Given the description of an element on the screen output the (x, y) to click on. 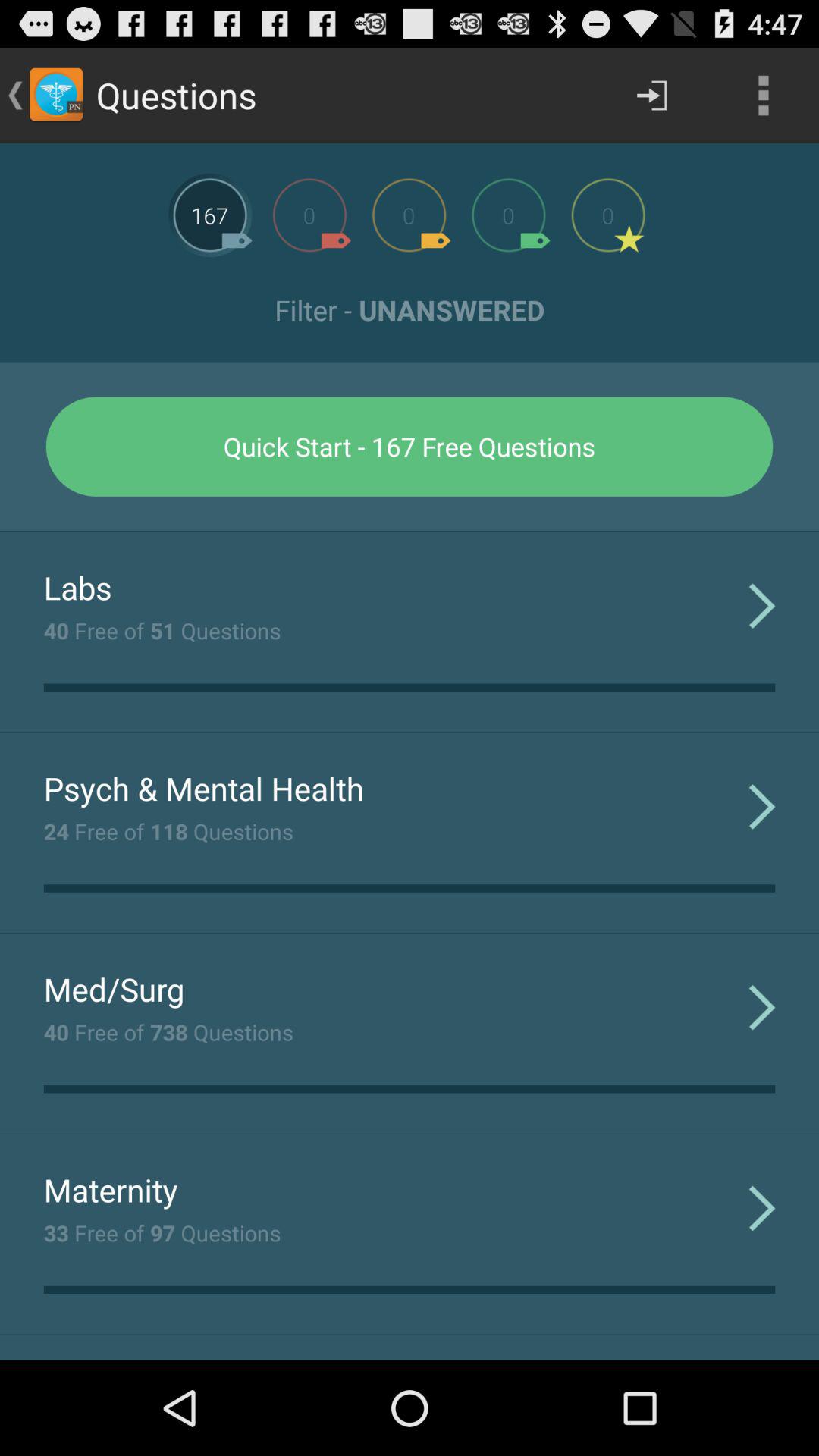
answer the question (309, 215)
